Given the description of an element on the screen output the (x, y) to click on. 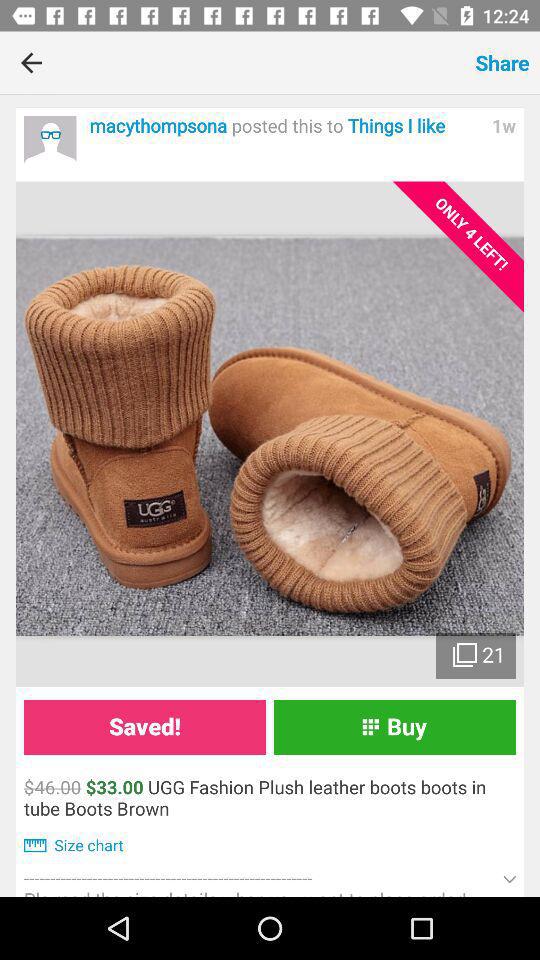
scroll to the saved! (144, 726)
